Given the description of an element on the screen output the (x, y) to click on. 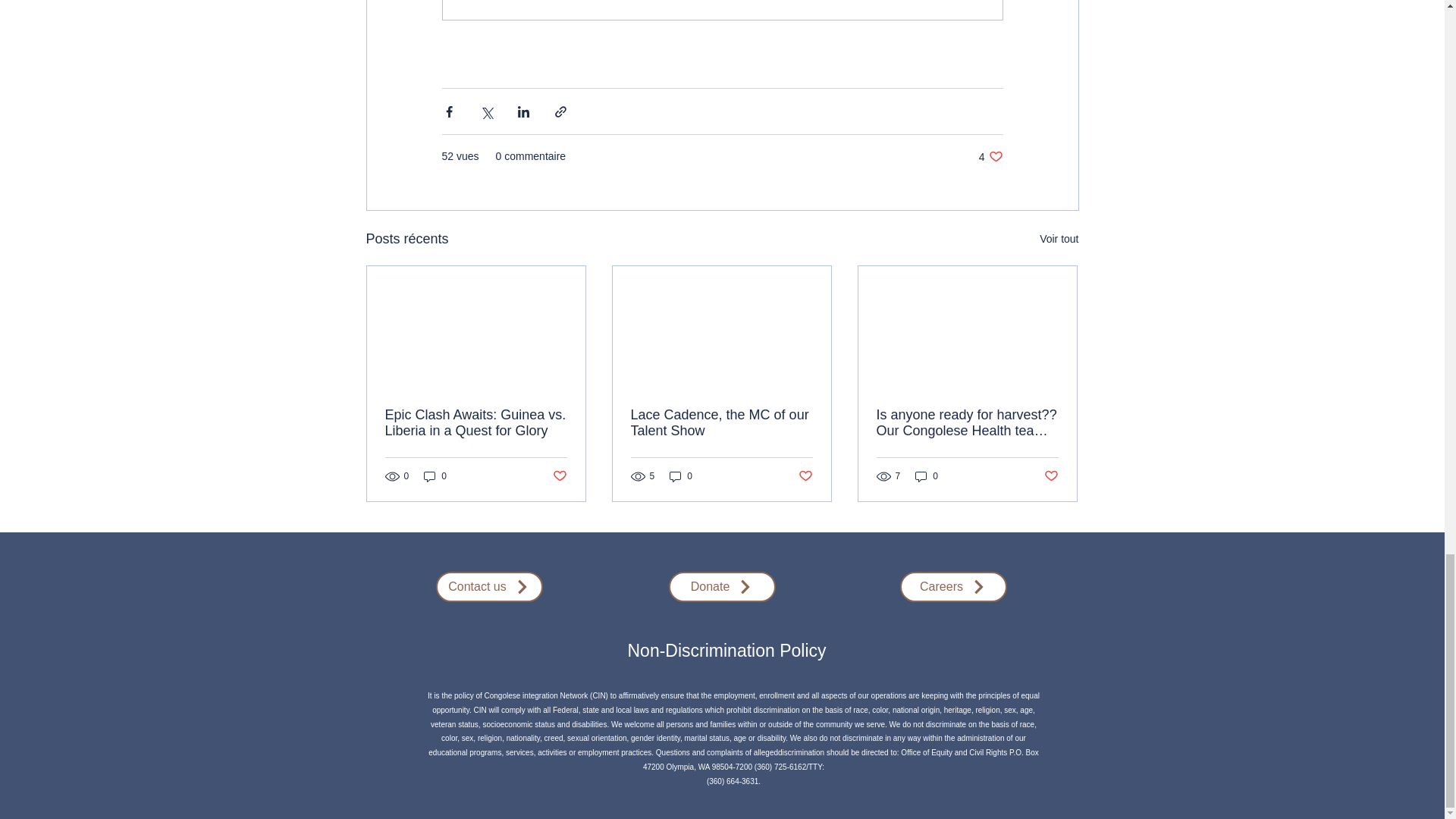
Voir tout (990, 156)
0 (1058, 239)
0 (681, 476)
Epic Clash Awaits: Guinea vs. Liberia in a Quest for Glory (435, 476)
Lace Cadence, the MC of our Talent Show (476, 422)
Vous n'aimez plus ce post (721, 422)
Vous n'aimez plus ce post (804, 475)
